Given the description of an element on the screen output the (x, y) to click on. 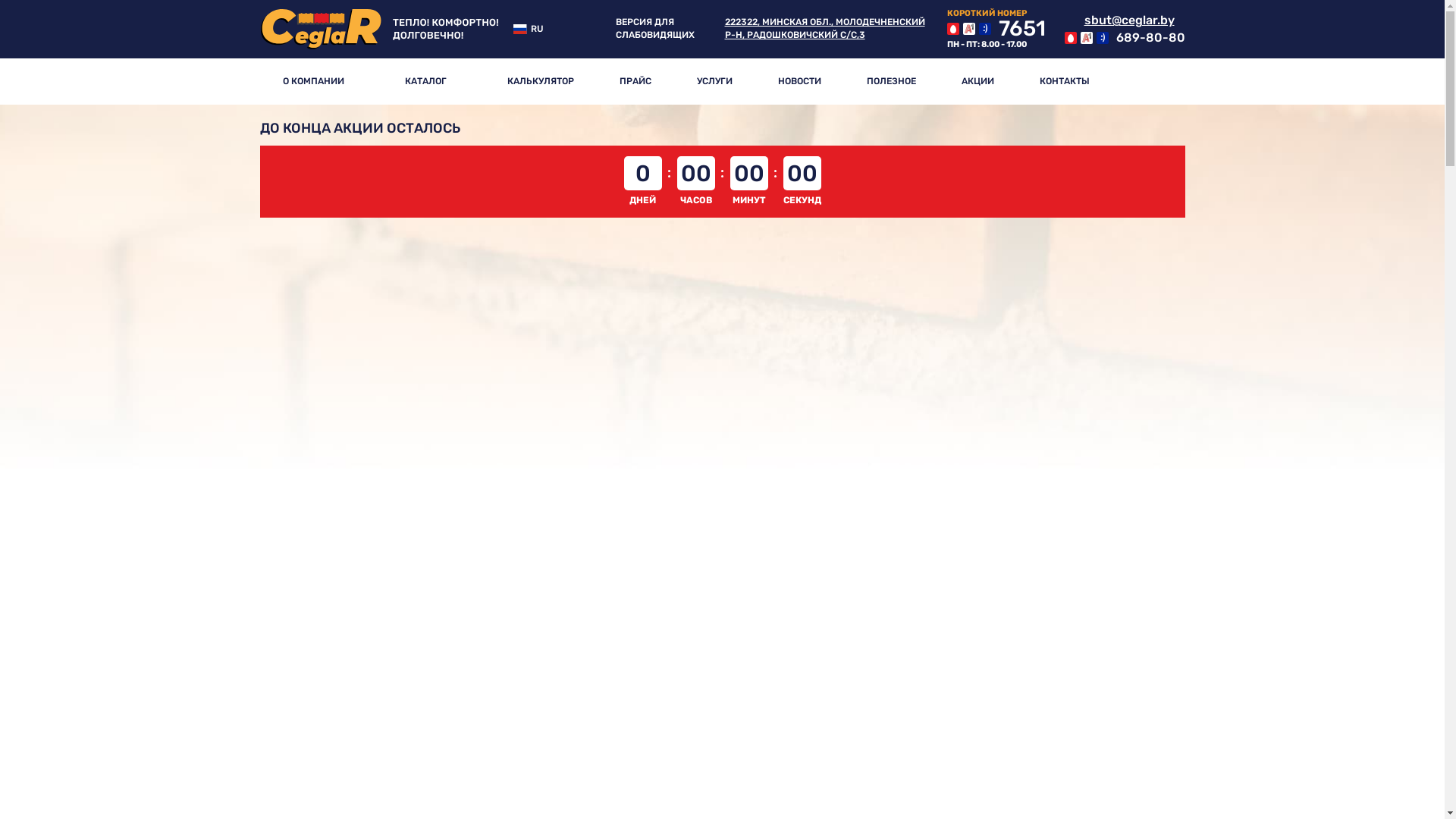
7651 Element type: text (995, 28)
sbut@ceglar.by Element type: text (1119, 20)
689-80-80 Element type: text (1124, 37)
